Given the description of an element on the screen output the (x, y) to click on. 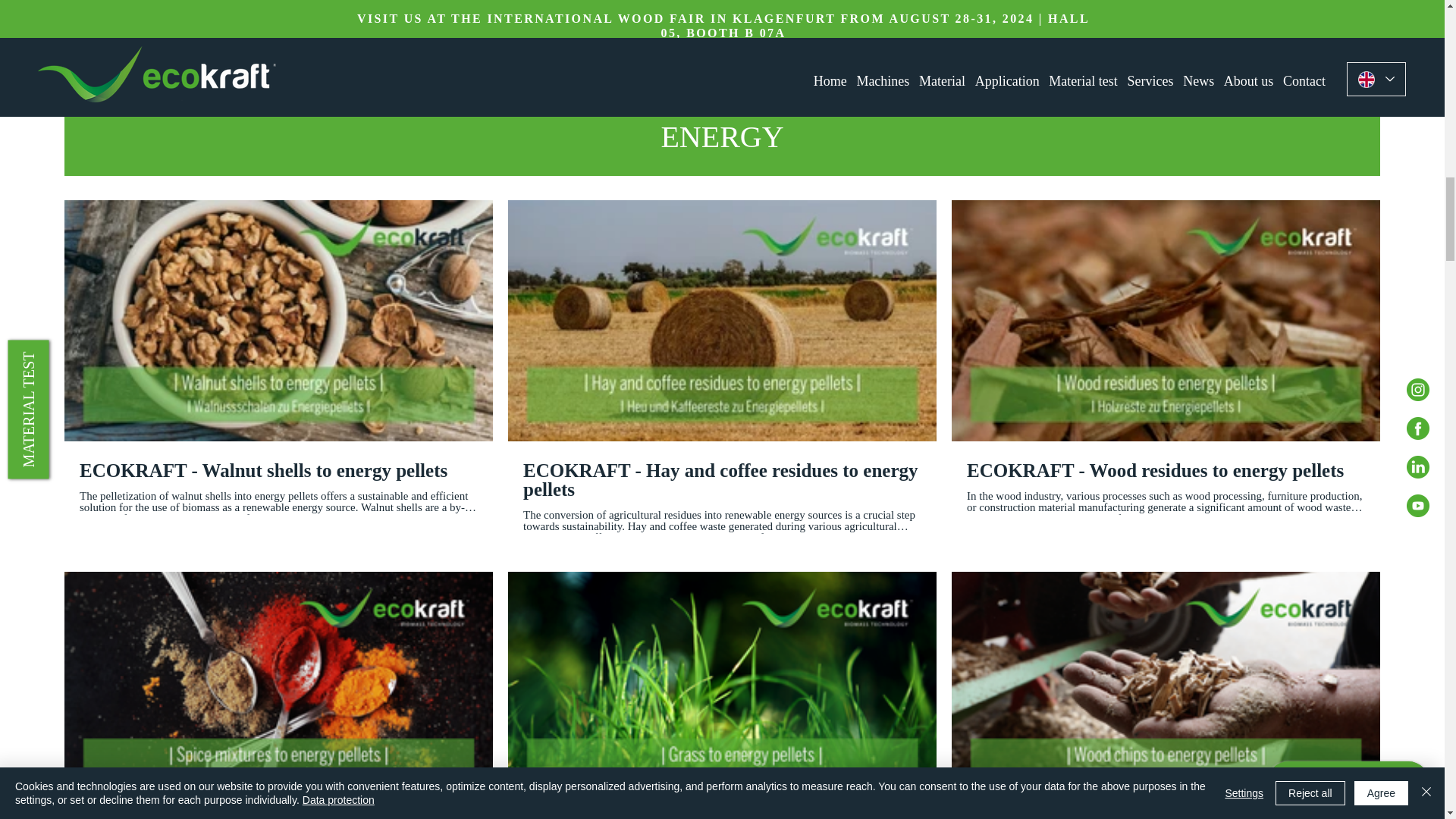
ECOKRAFT - Walnut shells to energy pellets (278, 469)
ECOKRAFT - Hay and coffee residues to energy pellets (721, 479)
ECOKRAFT - Wood residues to energy pellets (1165, 469)
